Given the description of an element on the screen output the (x, y) to click on. 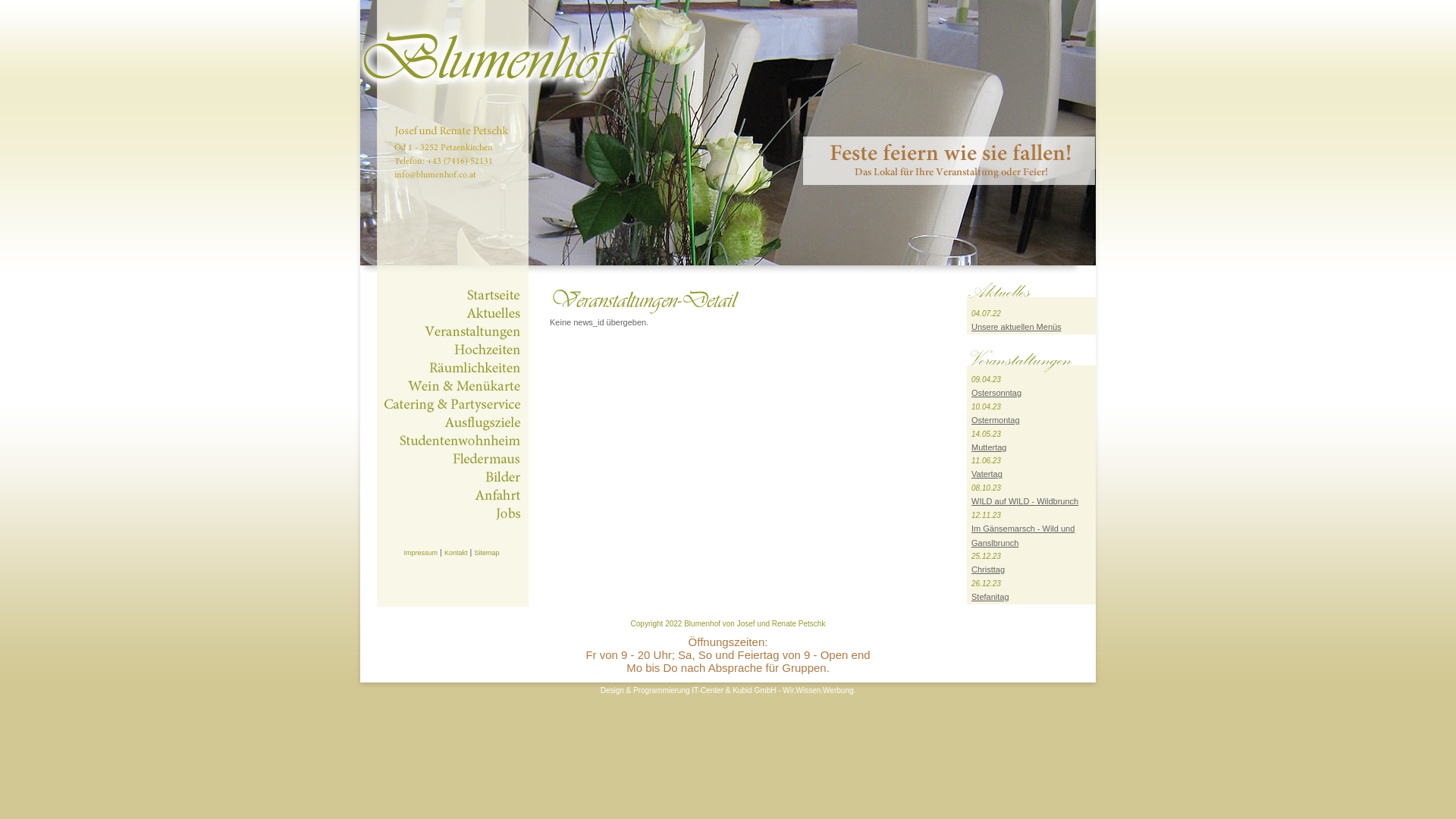
WILD auf WILD - Wildbrunch Element type: text (1024, 500)
Ostersonntag Element type: text (996, 392)
Impressum Element type: text (420, 552)
Kontakt Element type: text (455, 552)
Stefanitag Element type: text (990, 596)
IT-Center & Kubid GmbH - Wir.Wissen.Werbung Element type: text (772, 690)
Muttertag Element type: text (988, 446)
Ostermontag Element type: text (995, 419)
Christtag Element type: text (987, 569)
Sitemap Element type: text (485, 552)
Vatertag Element type: text (986, 473)
